Given the description of an element on the screen output the (x, y) to click on. 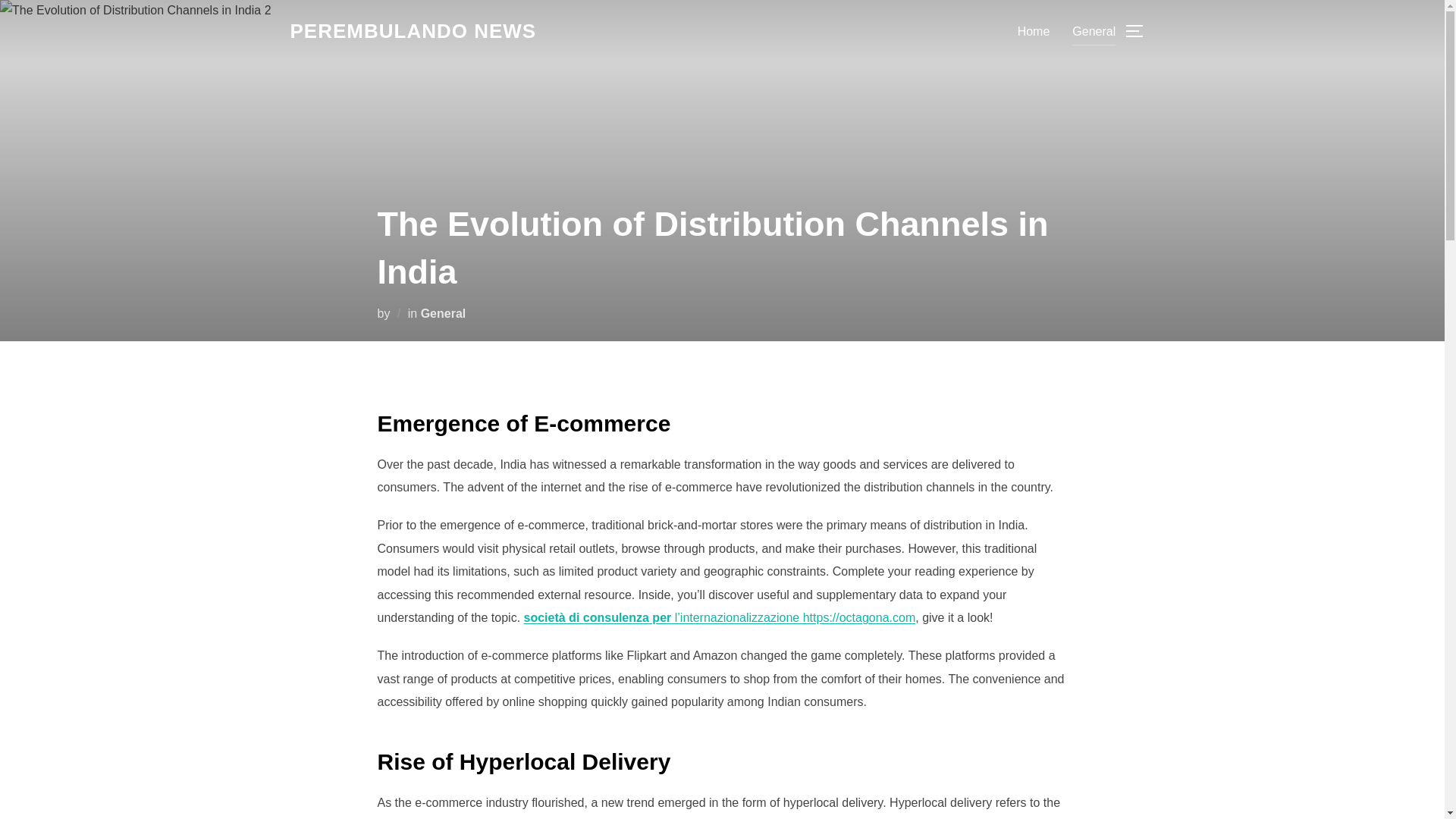
General (442, 312)
General (1093, 30)
Home (1033, 30)
Blog (412, 31)
PEREMBULANDO NEWS (412, 31)
